Given the description of an element on the screen output the (x, y) to click on. 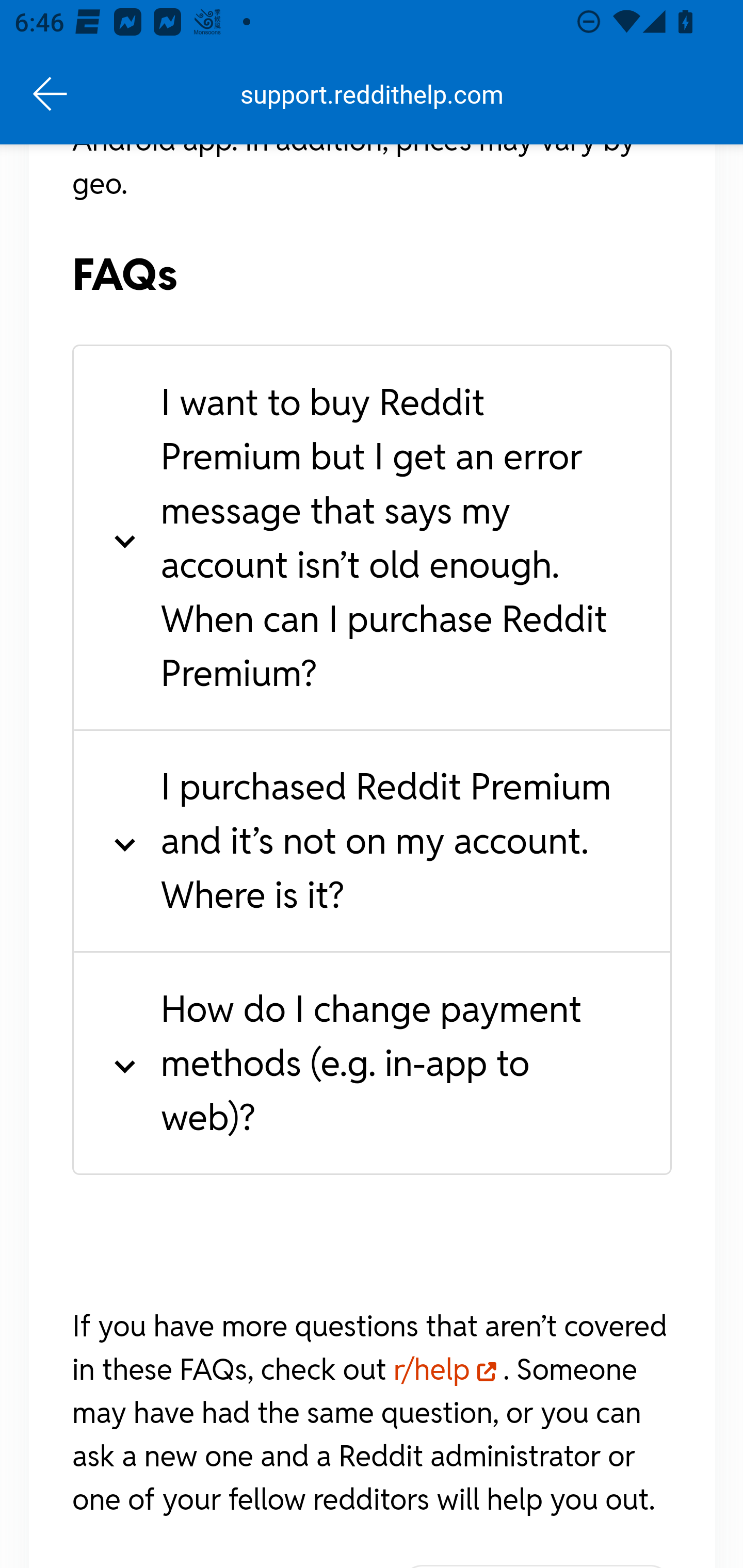
Back (50, 93)
